Given the description of an element on the screen output the (x, y) to click on. 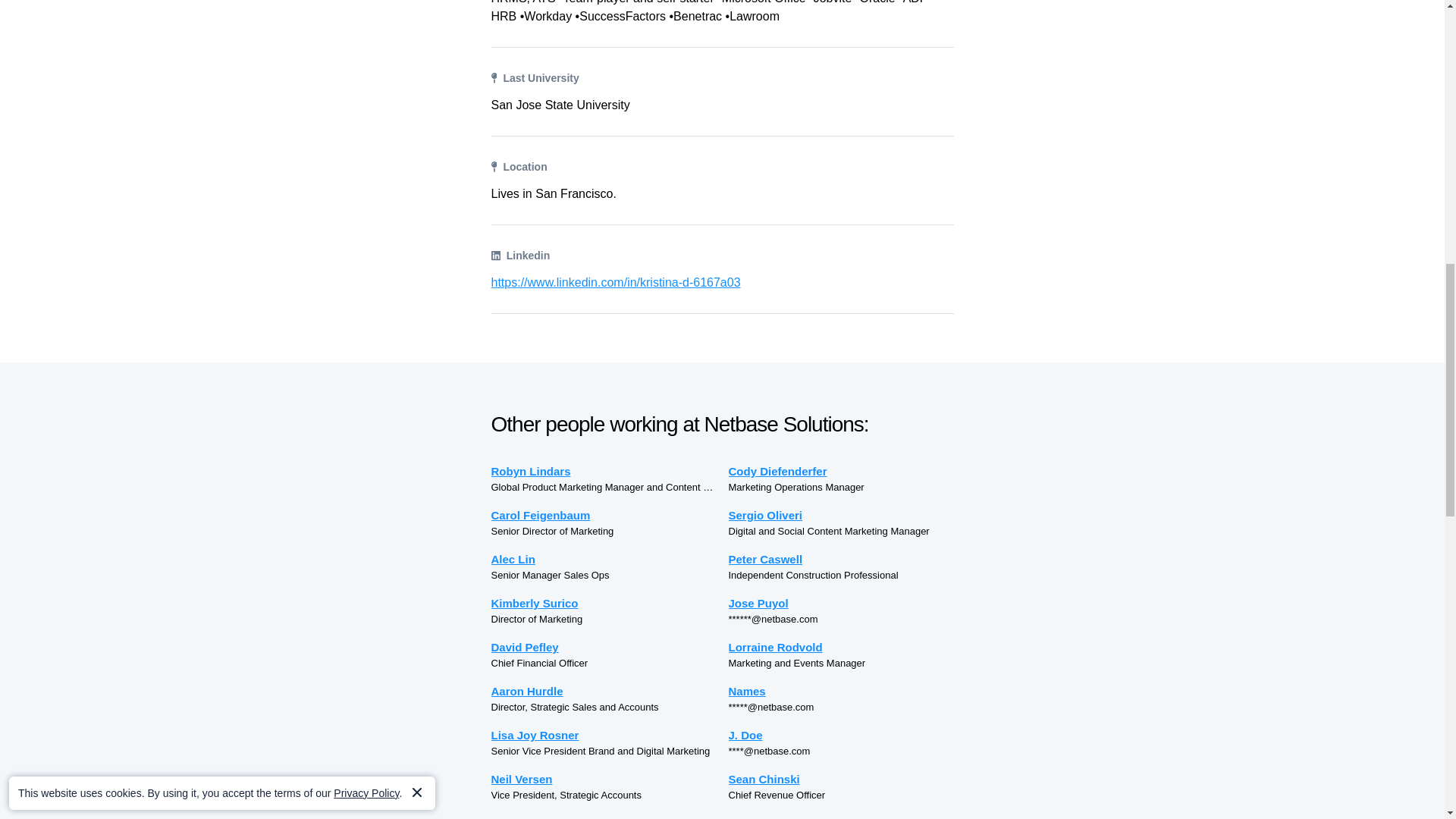
Sean Chinski (840, 778)
Neil Versen (604, 778)
Peter Caswell (840, 559)
J. Doe (840, 734)
Robyn Lindars (604, 470)
David Pefley (604, 647)
Cody Diefenderfer (840, 470)
Lei Li (604, 816)
Names (840, 691)
Aaron Hurdle (604, 691)
Jose Puyol (840, 602)
Alec Lin (604, 559)
Sergio Oliveri (840, 515)
Andrew Johnson (840, 816)
Carol Feigenbaum (604, 515)
